Given the description of an element on the screen output the (x, y) to click on. 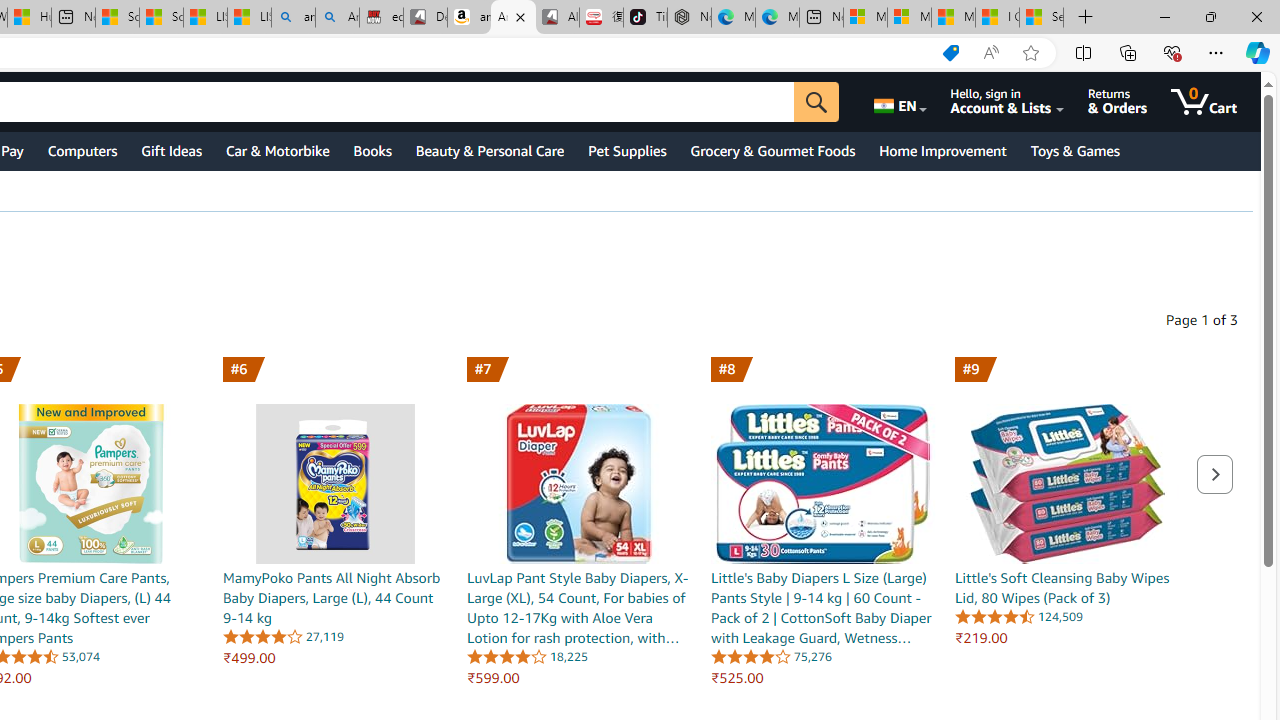
amazon.in/dp/B0CX59H5W7/?tag=gsmcom05-21 (469, 17)
Amazon Echo Dot PNG - Search Images (337, 17)
Next page (1214, 473)
Nordace - Best Sellers (689, 17)
Amazon.in Bestsellers: The most popular items on Amazon (513, 17)
Microsoft account | Privacy (909, 17)
I Gained 20 Pounds of Muscle in 30 Days! | Watch (996, 17)
